Given the description of an element on the screen output the (x, y) to click on. 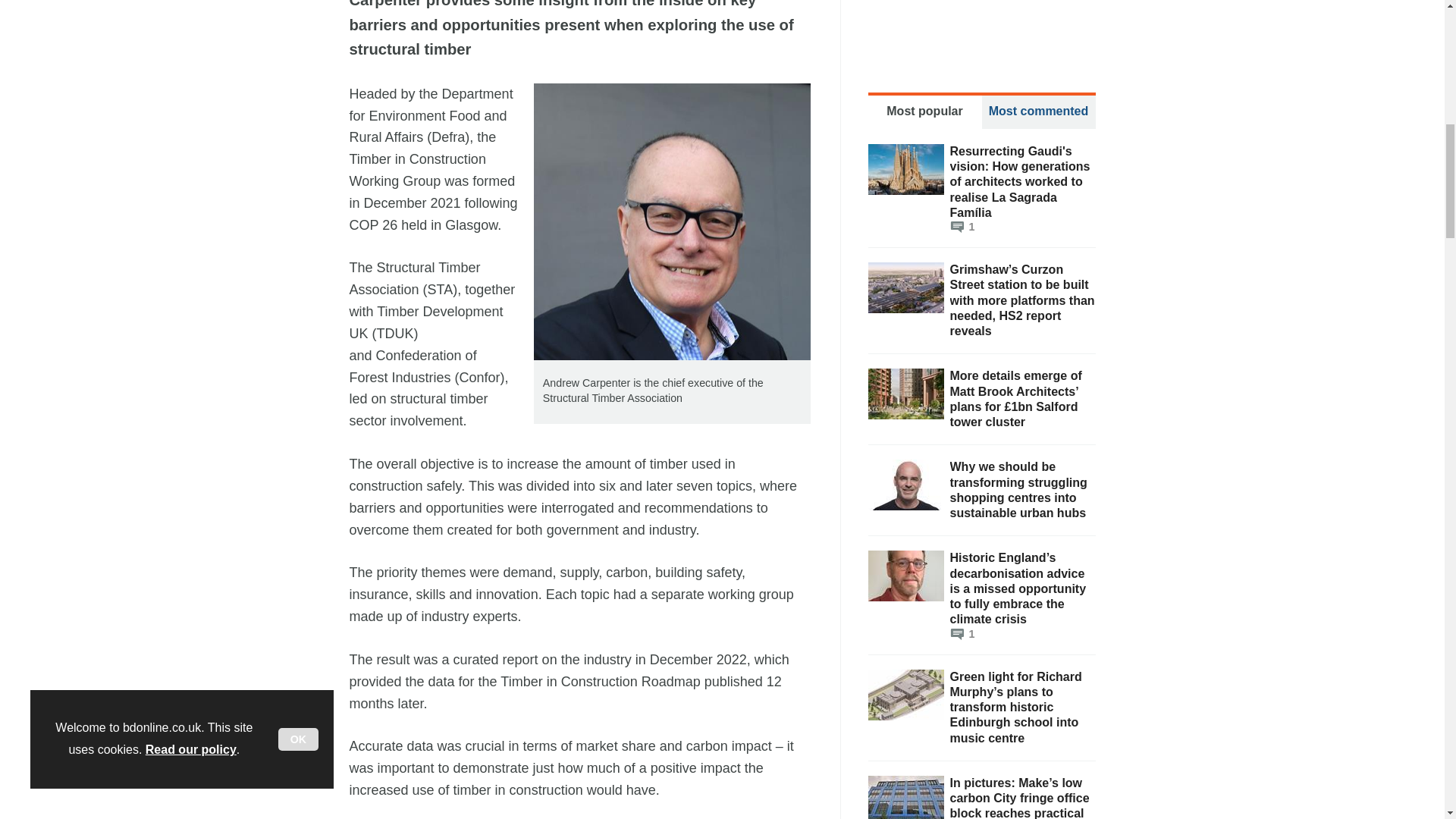
3rd party ad content (980, 28)
